Given the description of an element on the screen output the (x, y) to click on. 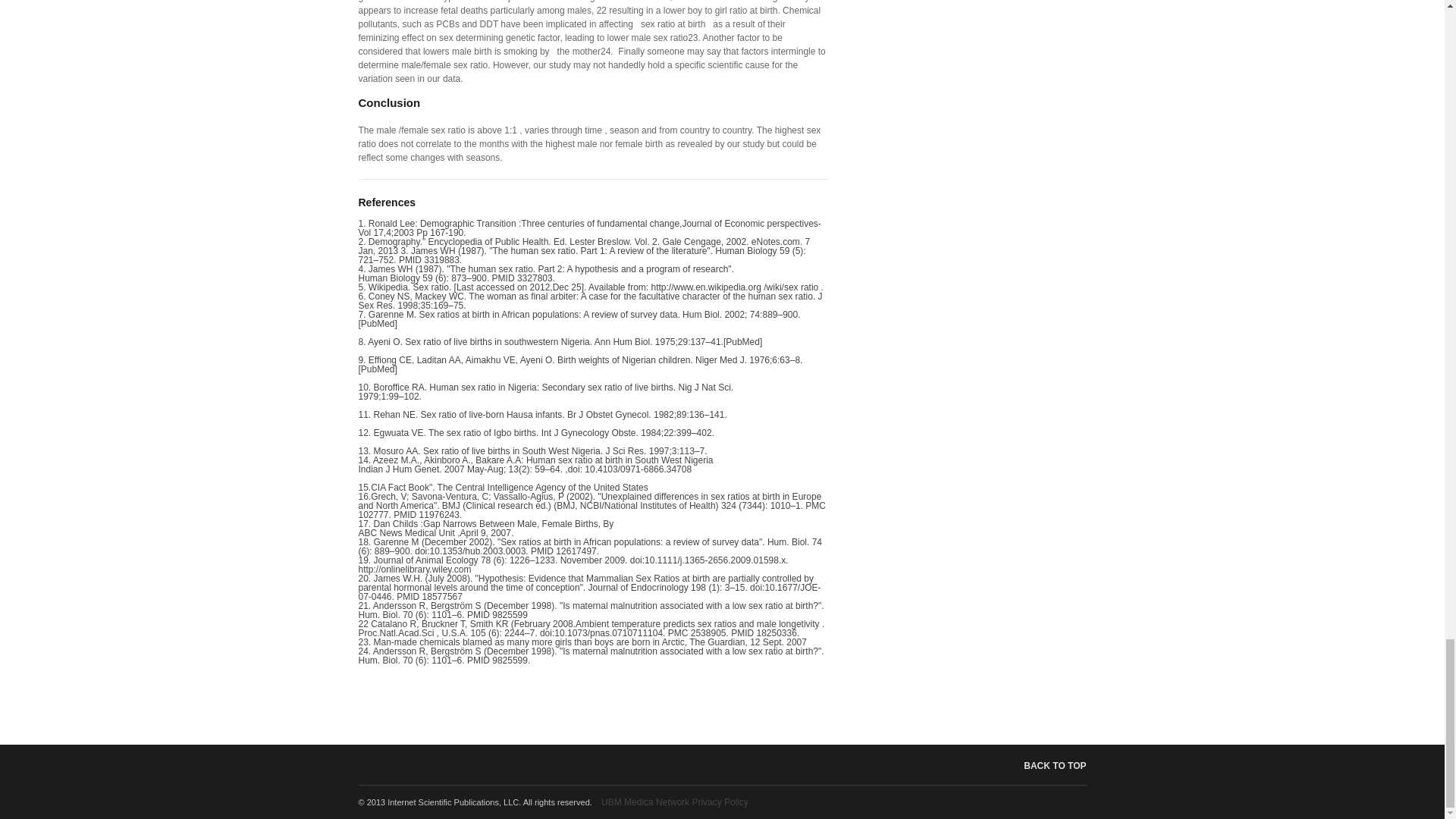
Google Plus (1080, 802)
BACK TO TOP (1043, 765)
UBM Medica Network Privacy Policy (674, 801)
Facebook (1062, 802)
